Given the description of an element on the screen output the (x, y) to click on. 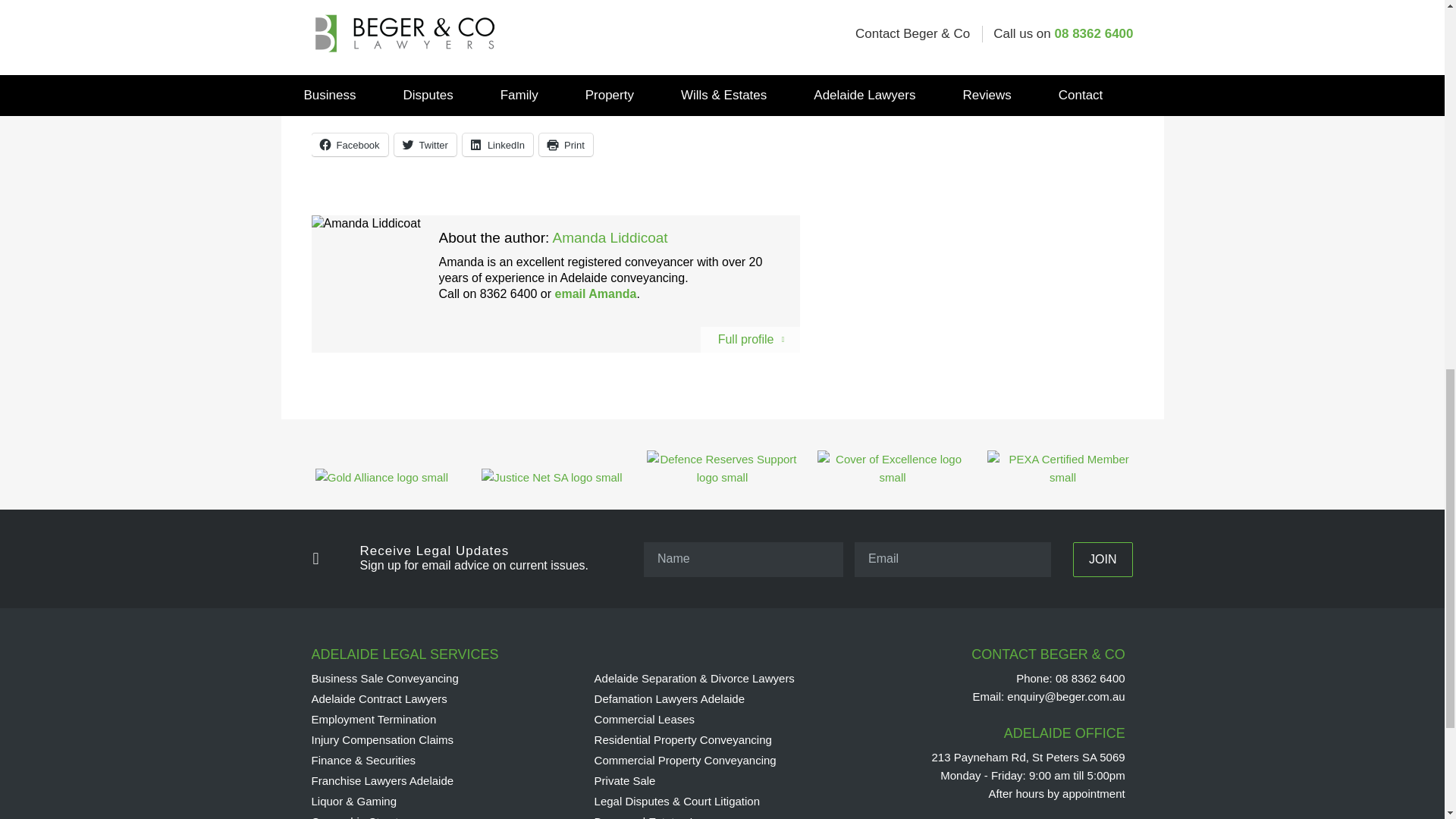
Click to share on Twitter (425, 144)
Click to share on LinkedIn (497, 144)
JOIN (1102, 559)
Click to print (565, 144)
Click to share on Facebook (349, 144)
Email Anna Pantelios (516, 93)
